Given the description of an element on the screen output the (x, y) to click on. 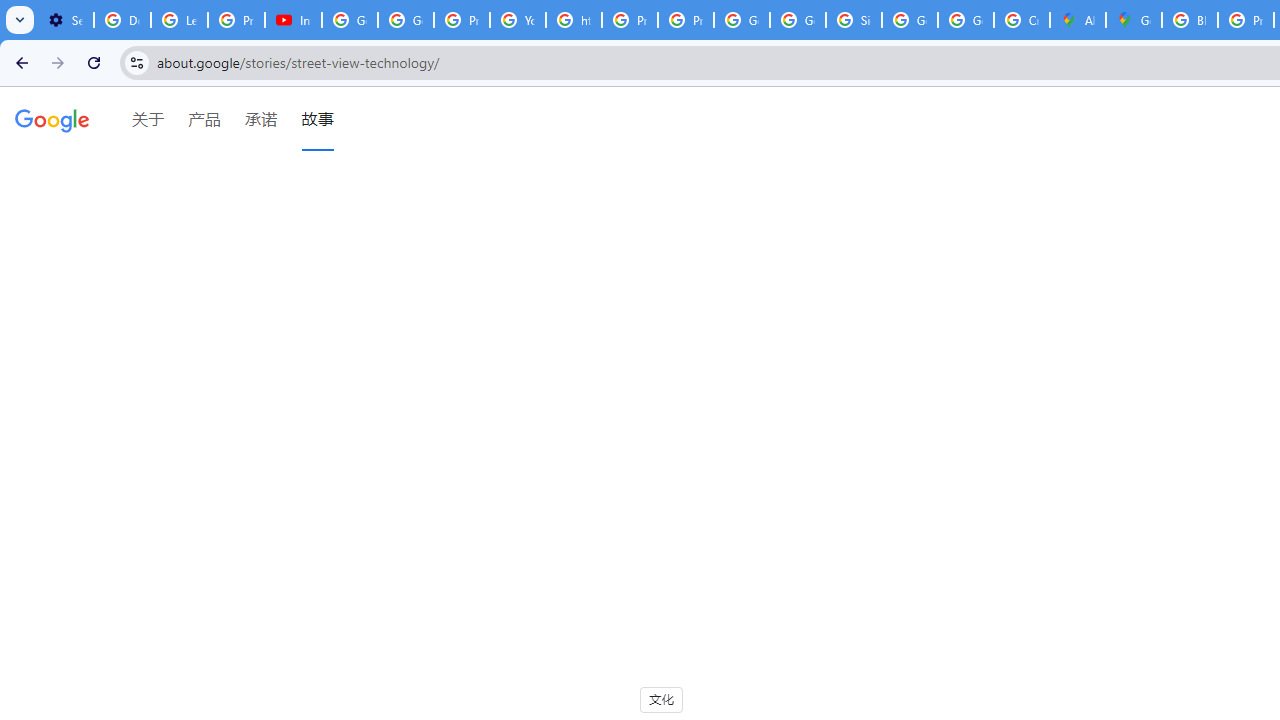
Introduction | Google Privacy Policy - YouTube (293, 20)
Create your Google Account (1021, 20)
Privacy Help Center - Policies Help (461, 20)
Google Maps (1133, 20)
Learn how to find your photos - Google Photos Help (179, 20)
Blogger Policies and Guidelines - Transparency Center (1190, 20)
